Given the description of an element on the screen output the (x, y) to click on. 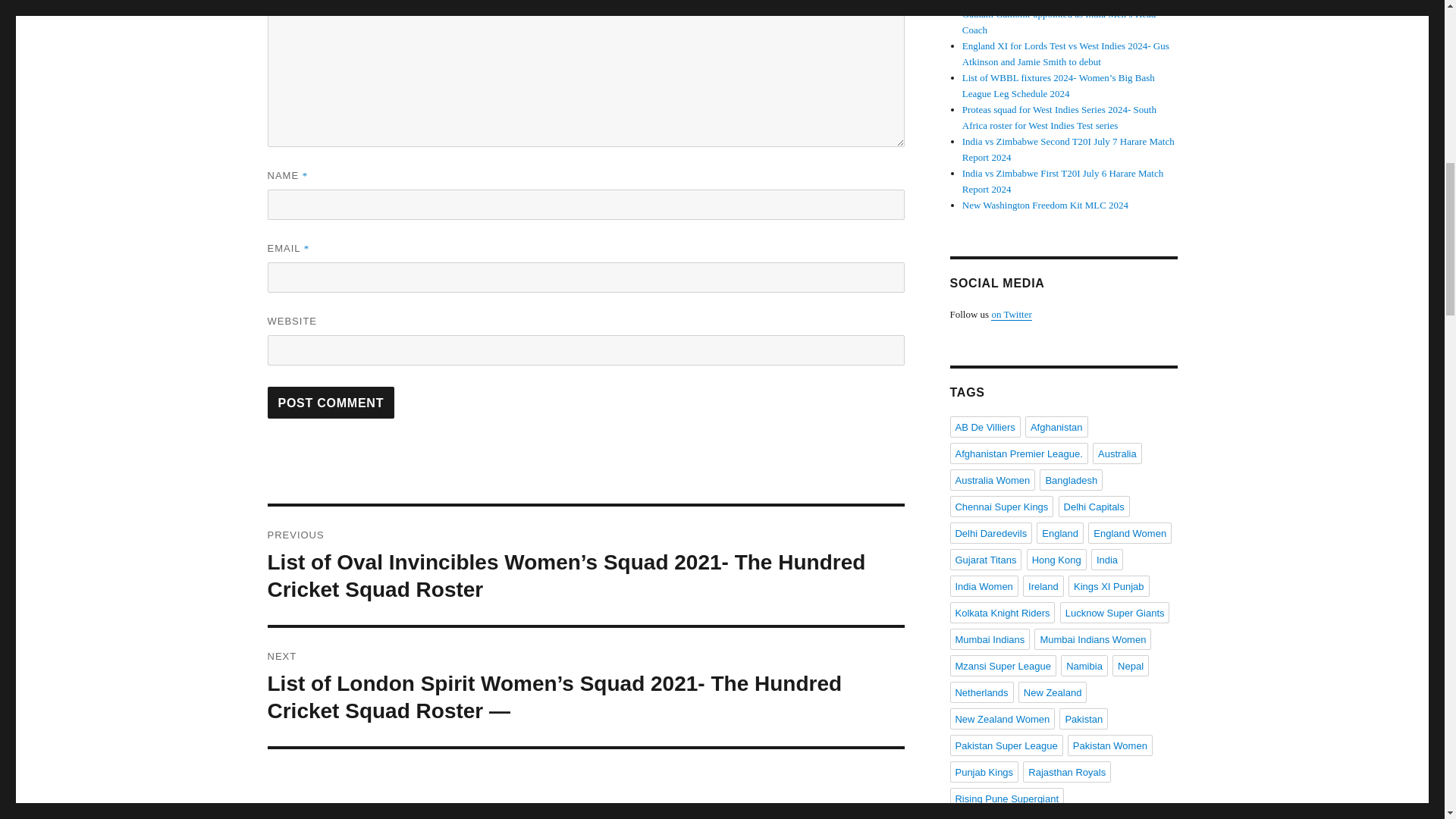
Post Comment (330, 402)
AB De Villiers (984, 426)
on Twitter (1010, 314)
Afghanistan (1056, 426)
New Washington Freedom Kit MLC 2024 (1045, 204)
Post Comment (330, 402)
India vs Zimbabwe First T20I July 6 Harare Match Report 2024 (1062, 180)
